Given the description of an element on the screen output the (x, y) to click on. 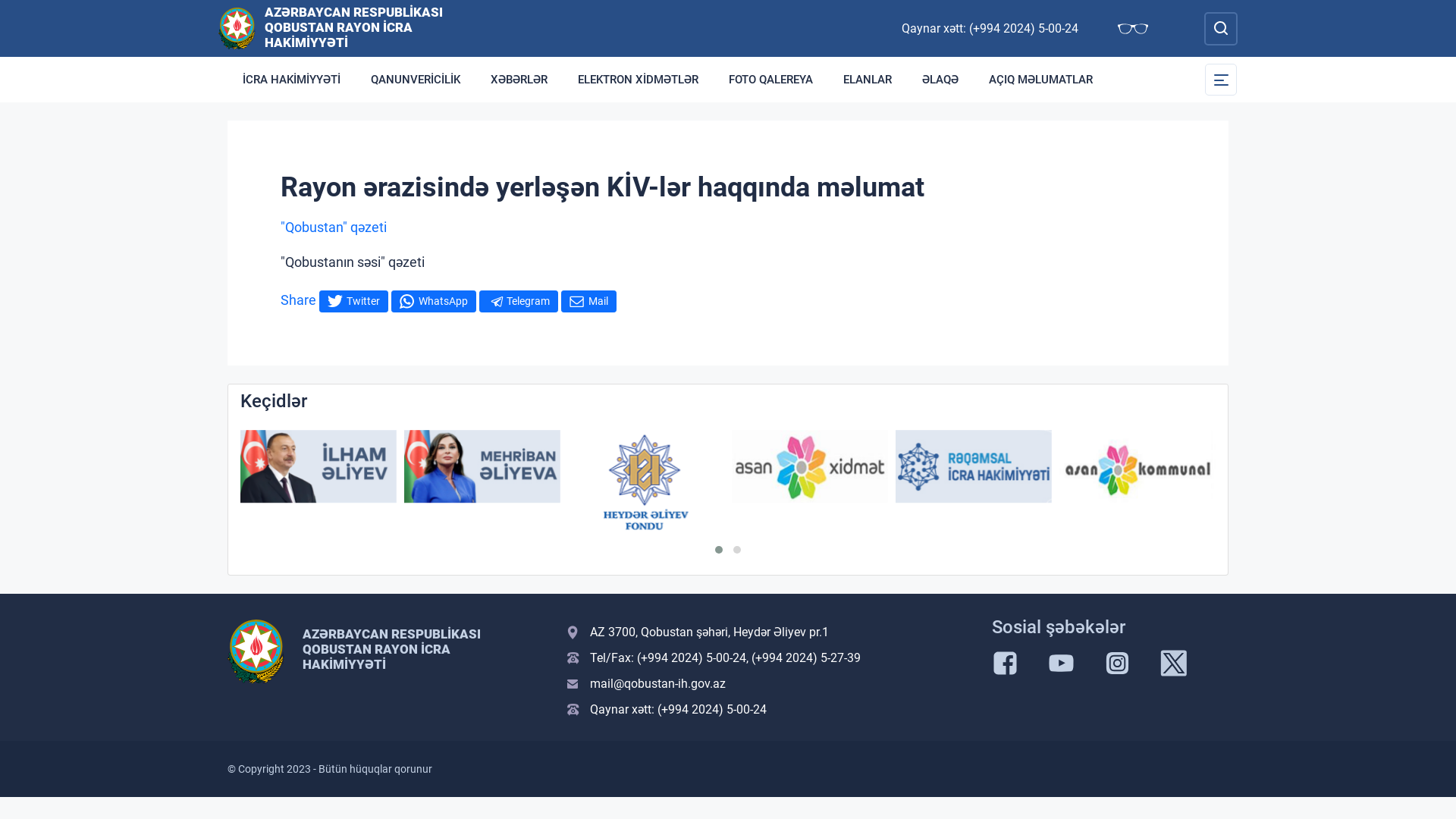
WhatsApp Element type: text (433, 300)
QANUNVERICILIK Element type: text (415, 79)
Asan komunal Element type: hover (1137, 465)
FOTO QALEREYA Element type: text (770, 79)
mail@qobustan-ih.gov.az Element type: text (770, 683)
Twitter Element type: text (353, 300)
Share Element type: text (298, 299)
Mail Element type: text (588, 300)
ELANLAR Element type: text (867, 79)
Telegram Element type: text (518, 300)
